Given the description of an element on the screen output the (x, y) to click on. 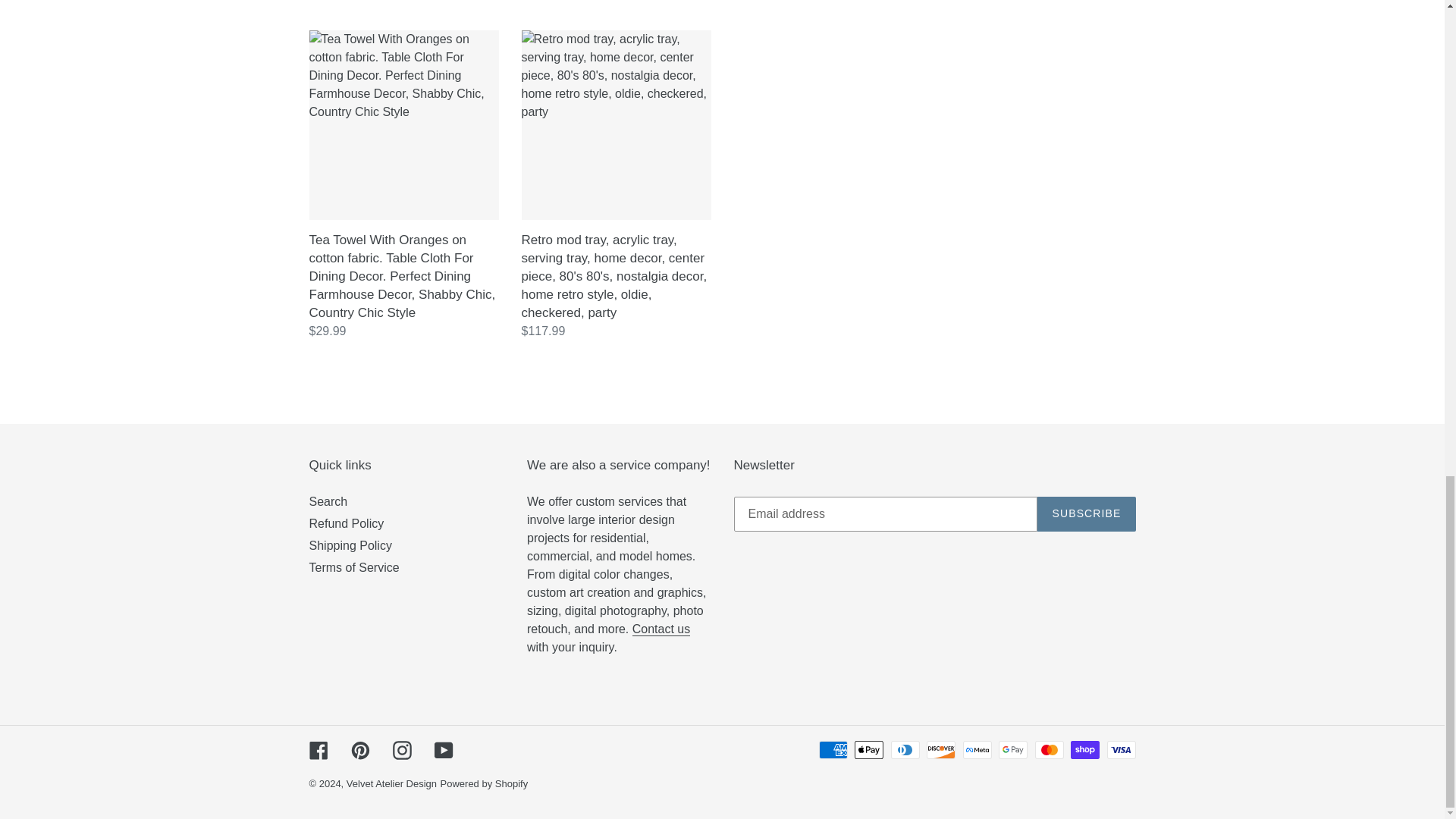
Contact us (660, 629)
